Given the description of an element on the screen output the (x, y) to click on. 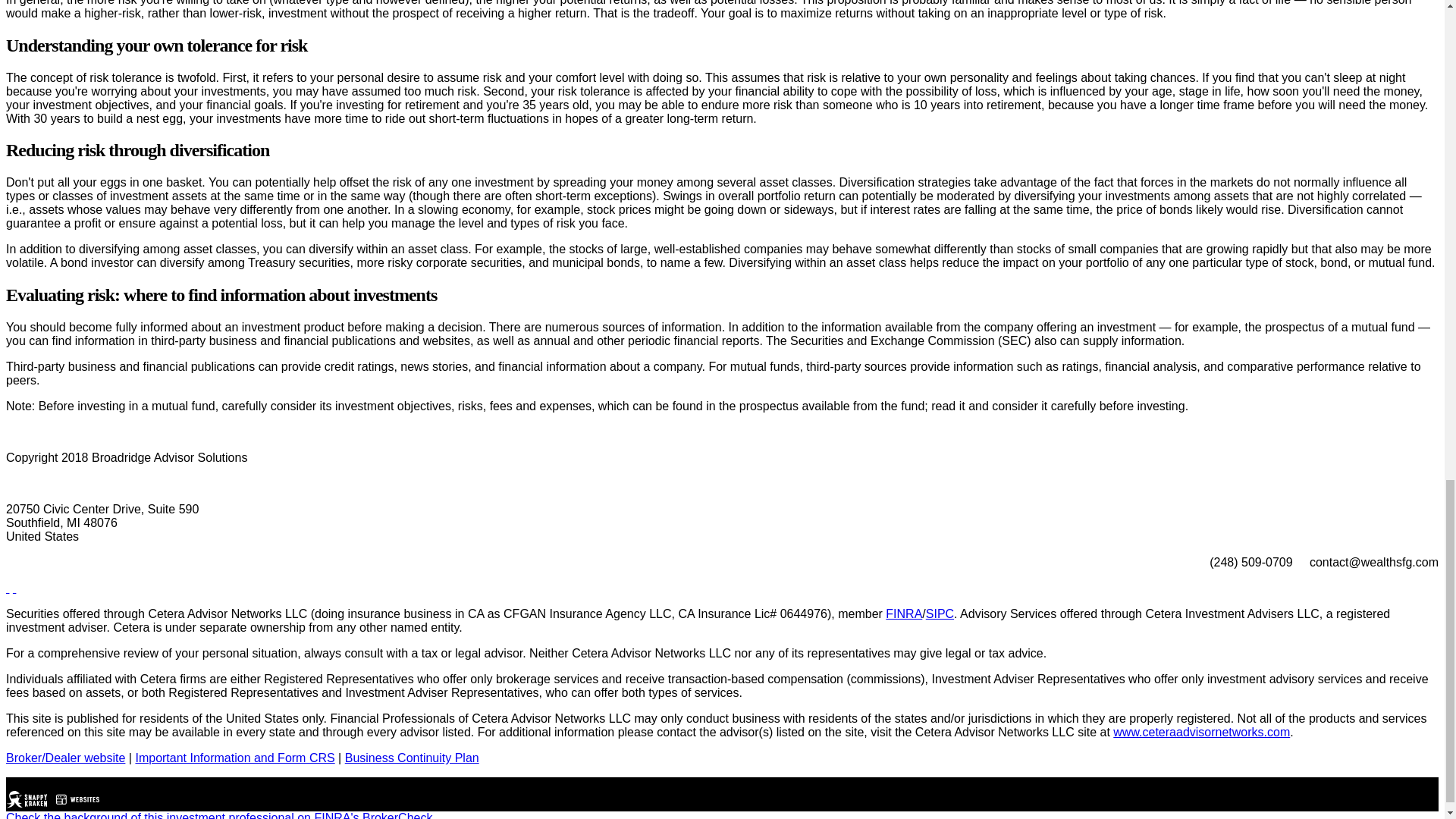
FINRA (903, 613)
www.ceteraadvisornetworks.com (1201, 731)
SIPC (939, 613)
Important Information and Form CRS (234, 757)
Business Continuity Plan (412, 757)
